Given the description of an element on the screen output the (x, y) to click on. 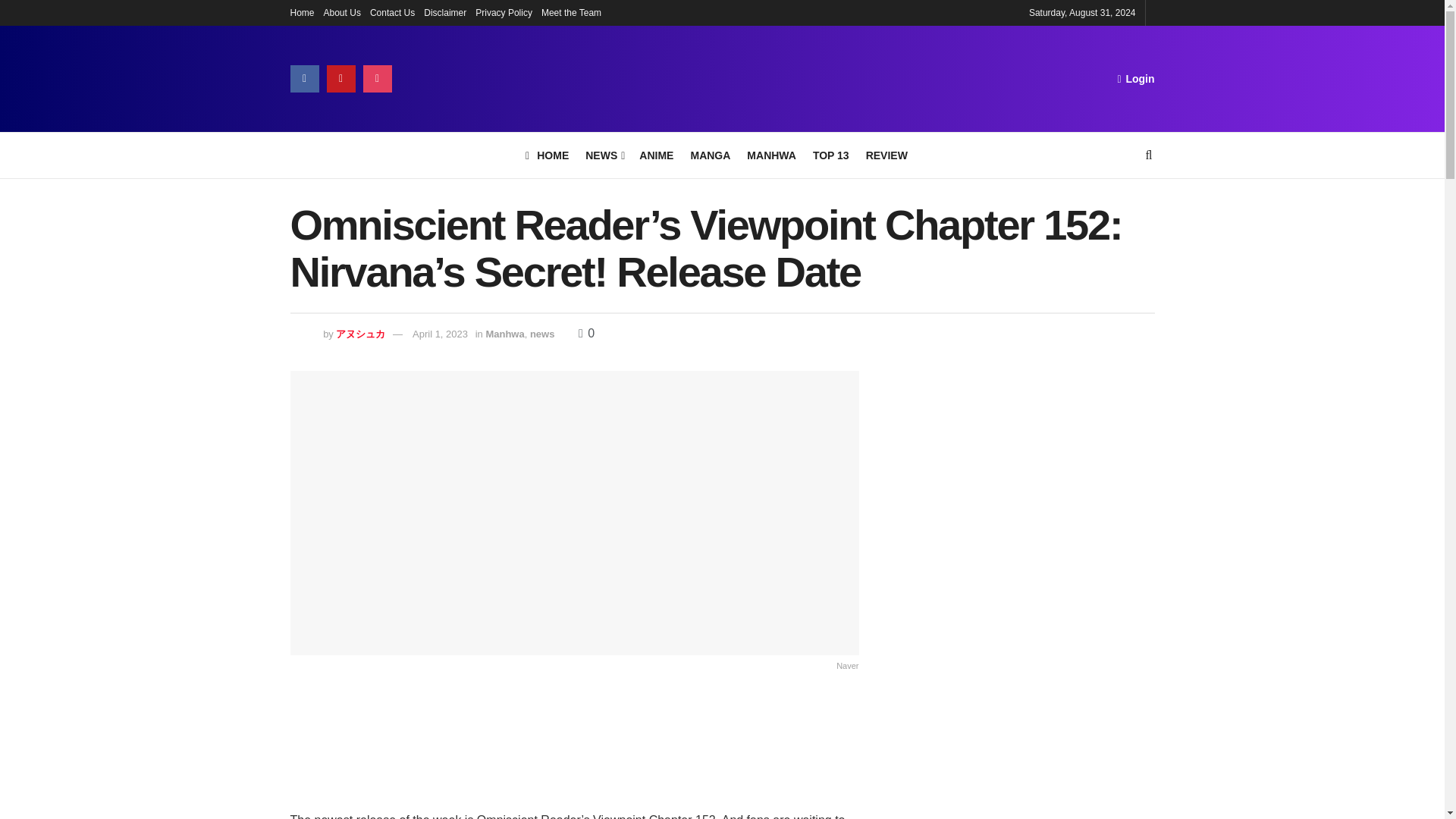
MANHWA (771, 155)
REVIEW (886, 155)
Home (301, 12)
NEWS (604, 155)
Meet the Team (571, 12)
MANGA (710, 155)
Disclaimer (444, 12)
Contact Us (391, 12)
TOP 13 (830, 155)
HOME (547, 155)
